Given the description of an element on the screen output the (x, y) to click on. 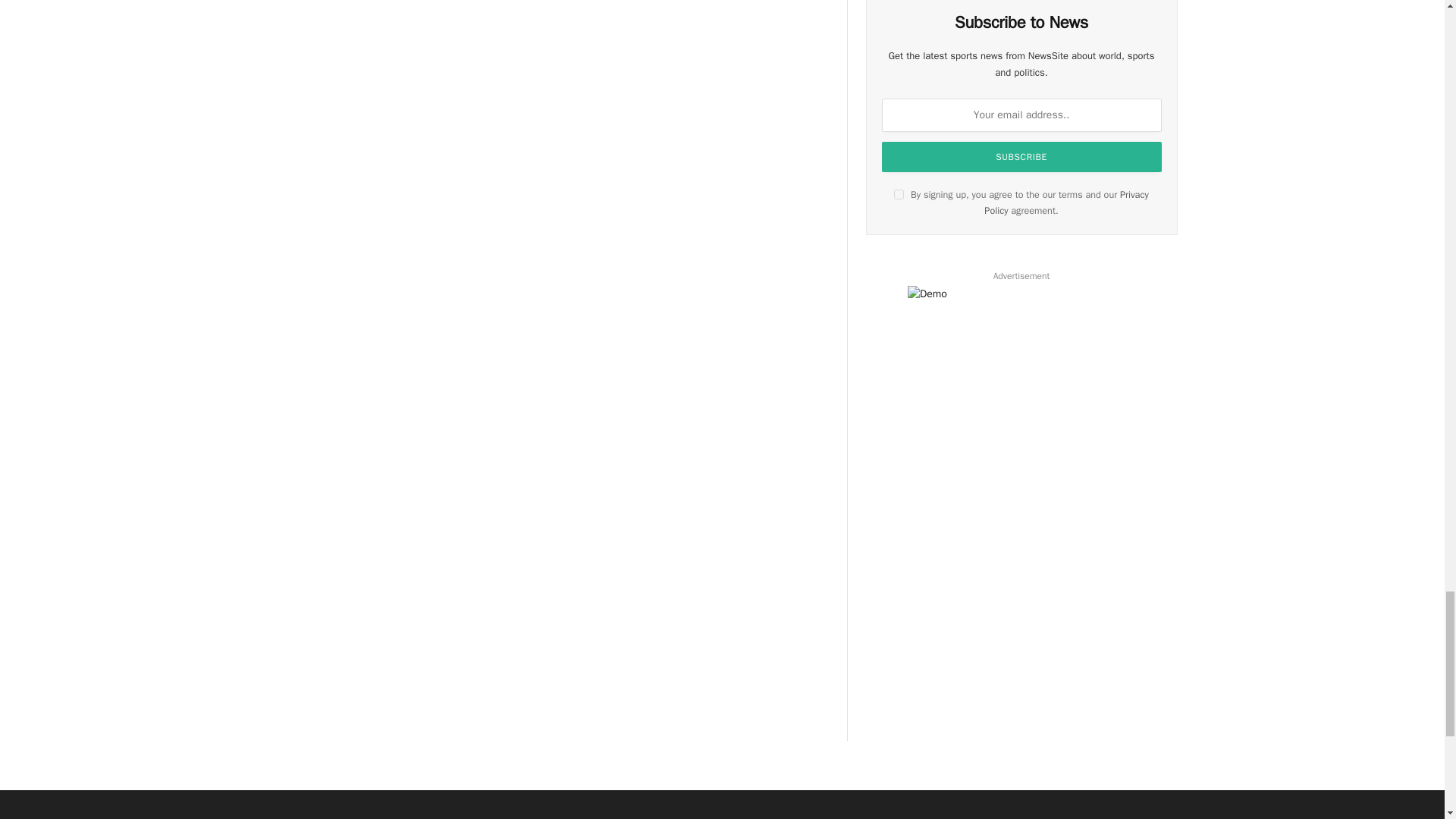
Subscribe (1021, 156)
on (898, 194)
